Given the description of an element on the screen output the (x, y) to click on. 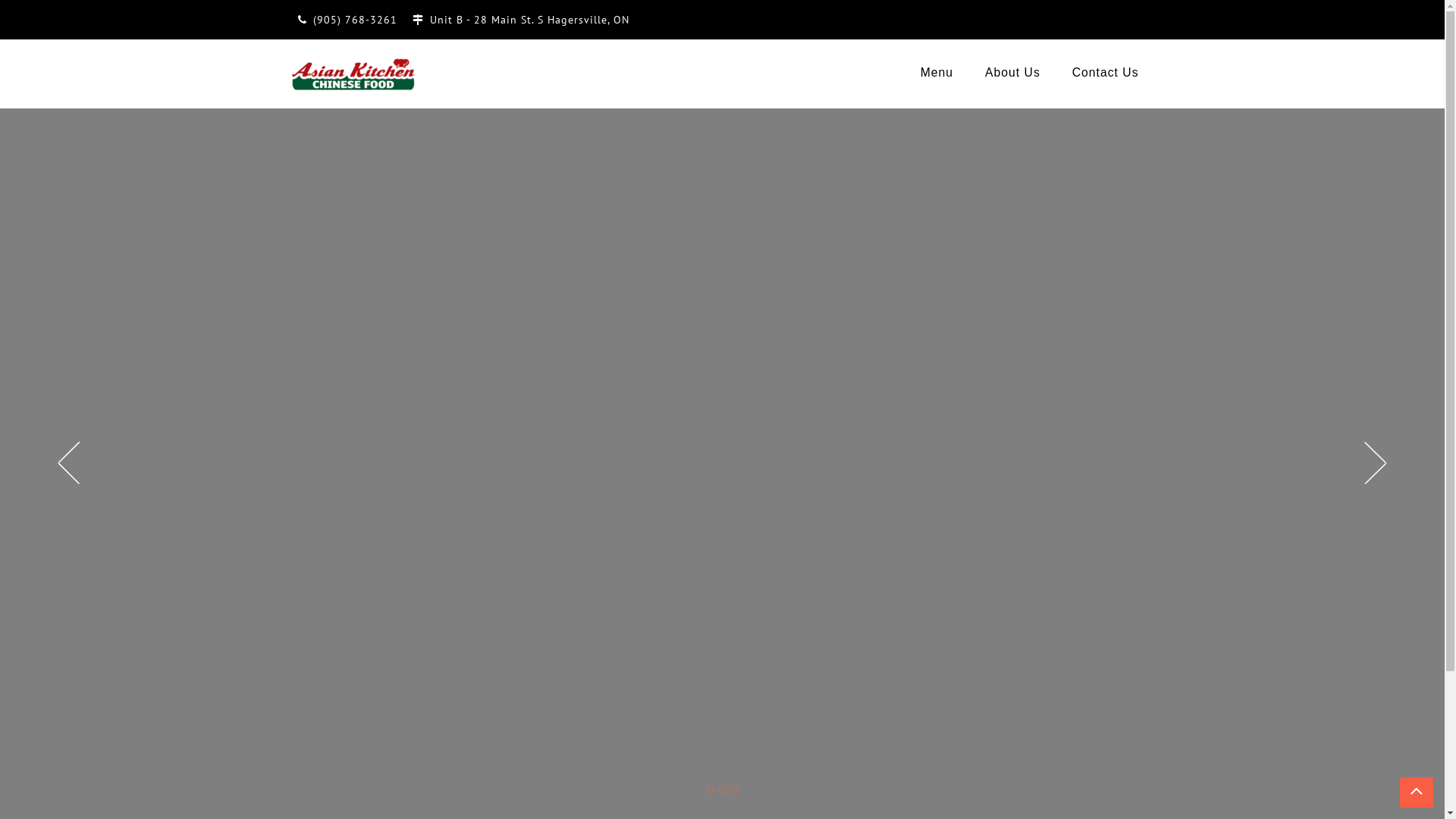
(905) 768-3261 Element type: text (354, 19)
Menu Element type: text (936, 72)
Contact Us Element type: text (1105, 72)
About Us Element type: text (1012, 72)
ASIAN KITCHEN Element type: text (406, 104)
